Given the description of an element on the screen output the (x, y) to click on. 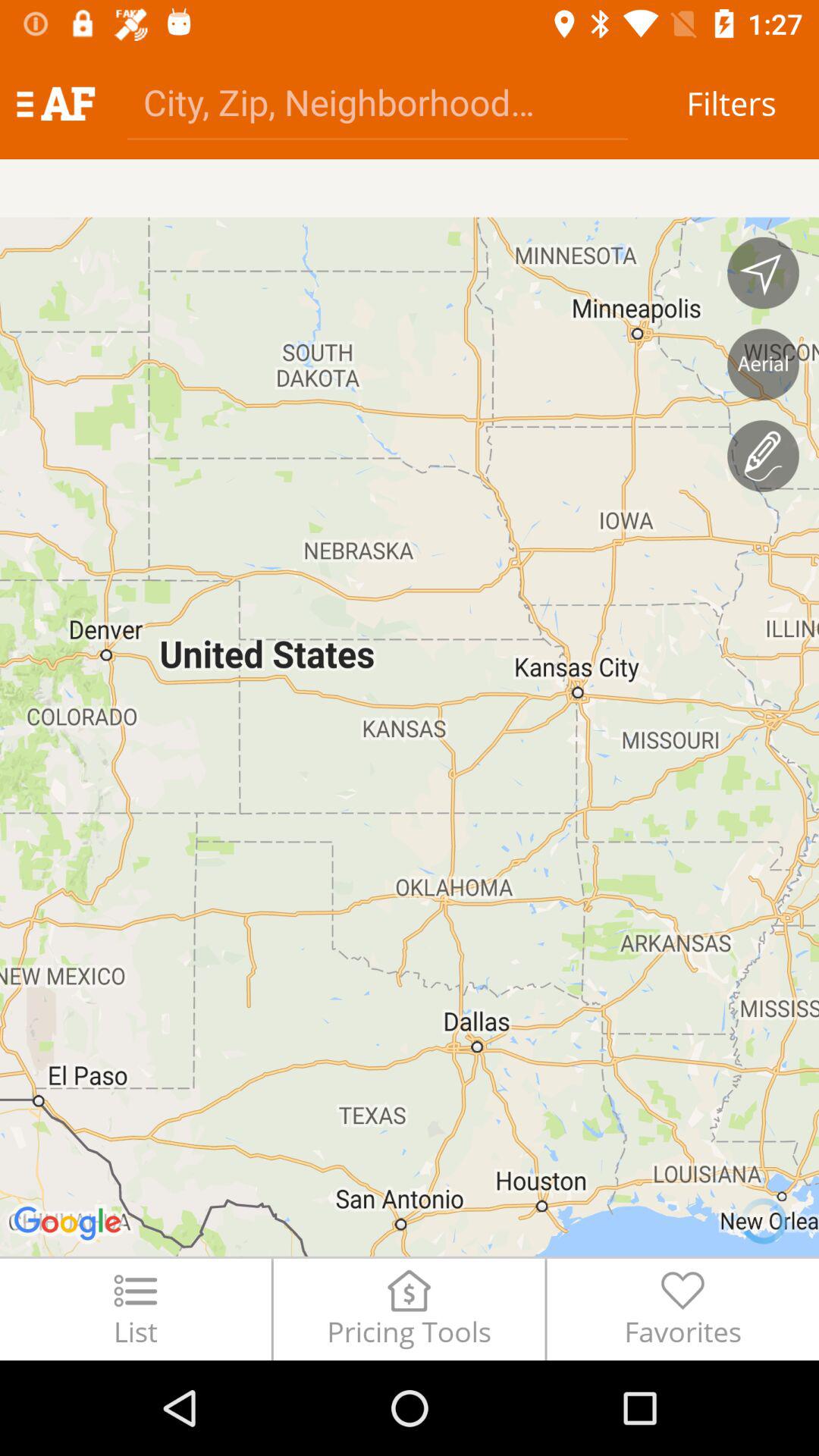
tap the icon to the left of filters icon (377, 102)
